Given the description of an element on the screen output the (x, y) to click on. 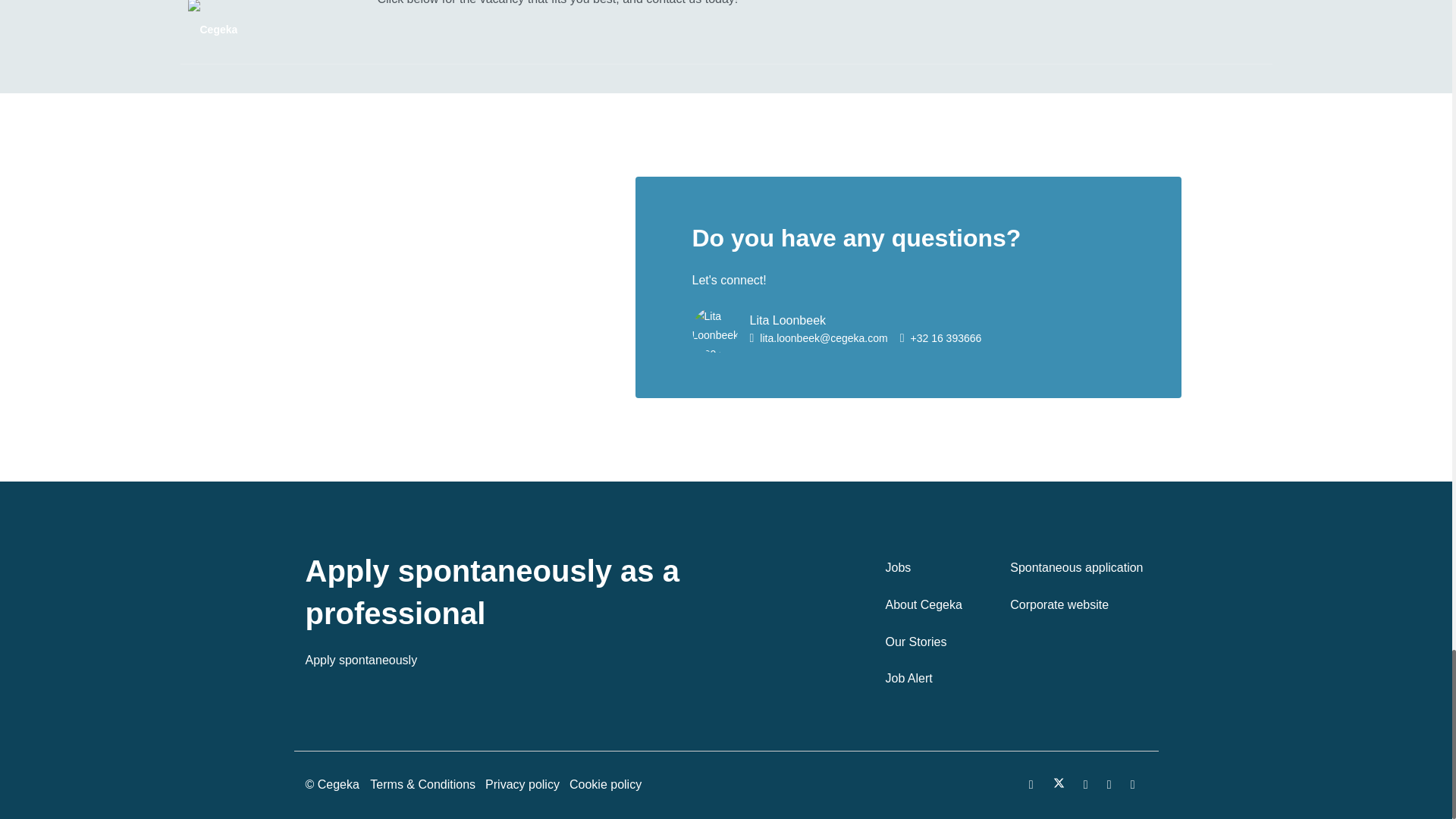
Apply spontaneously (360, 659)
Privacy policy (525, 784)
Job Alert (923, 678)
Our Stories (923, 642)
Corporate website (1075, 605)
Cookie policy (609, 784)
Jobs (923, 568)
Spontaneous application (1075, 568)
About Cegeka (923, 605)
